Given the description of an element on the screen output the (x, y) to click on. 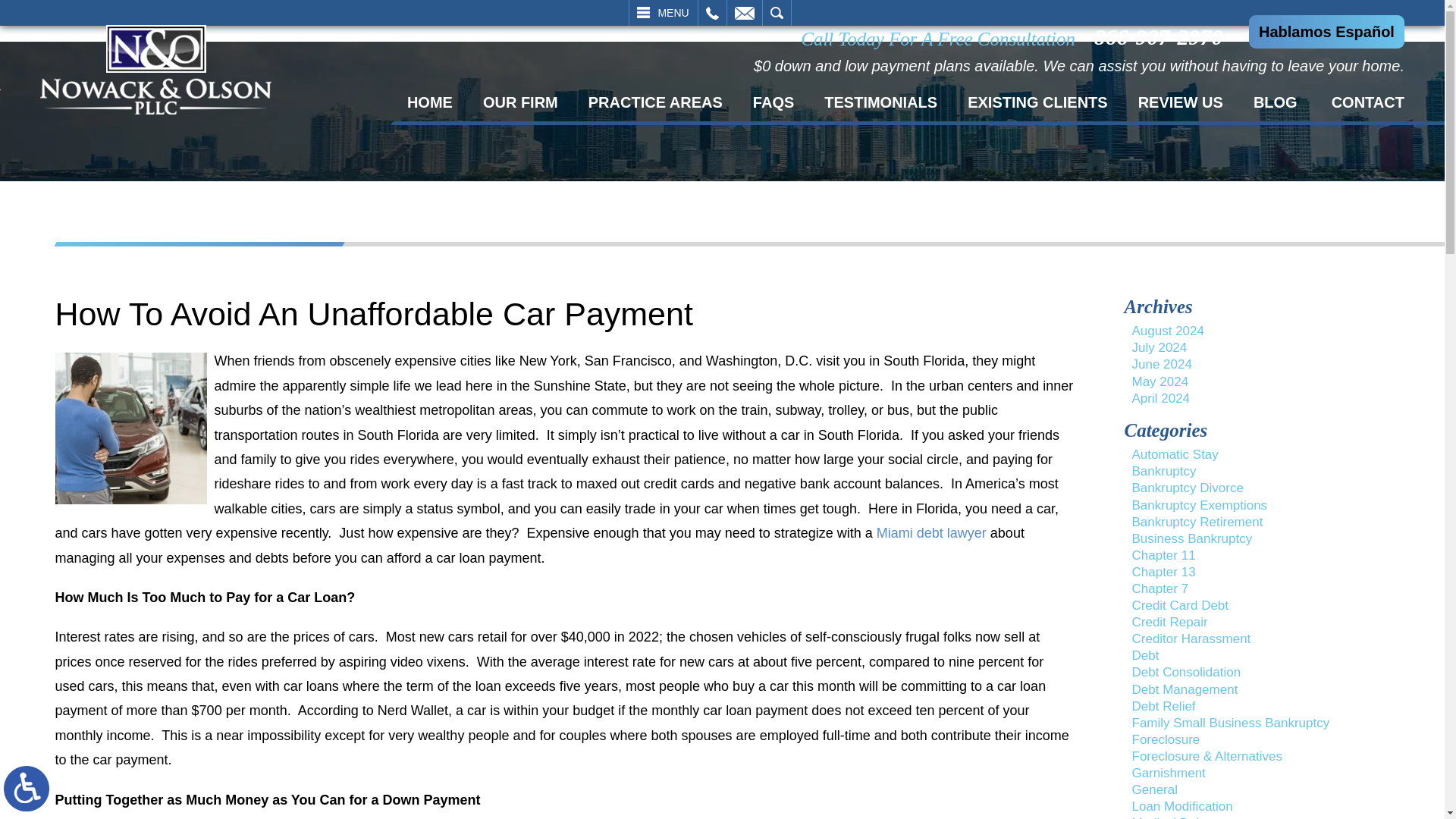
EMAIL (743, 12)
Florida Bankruptcy Lawyer (154, 69)
SEARCH (776, 12)
HOME (429, 101)
MENU (662, 12)
OUR FIRM (520, 101)
CarShopping (130, 428)
PRACTICE AREAS (655, 101)
866-907-2970 (1162, 36)
CALL (711, 12)
